Given the description of an element on the screen output the (x, y) to click on. 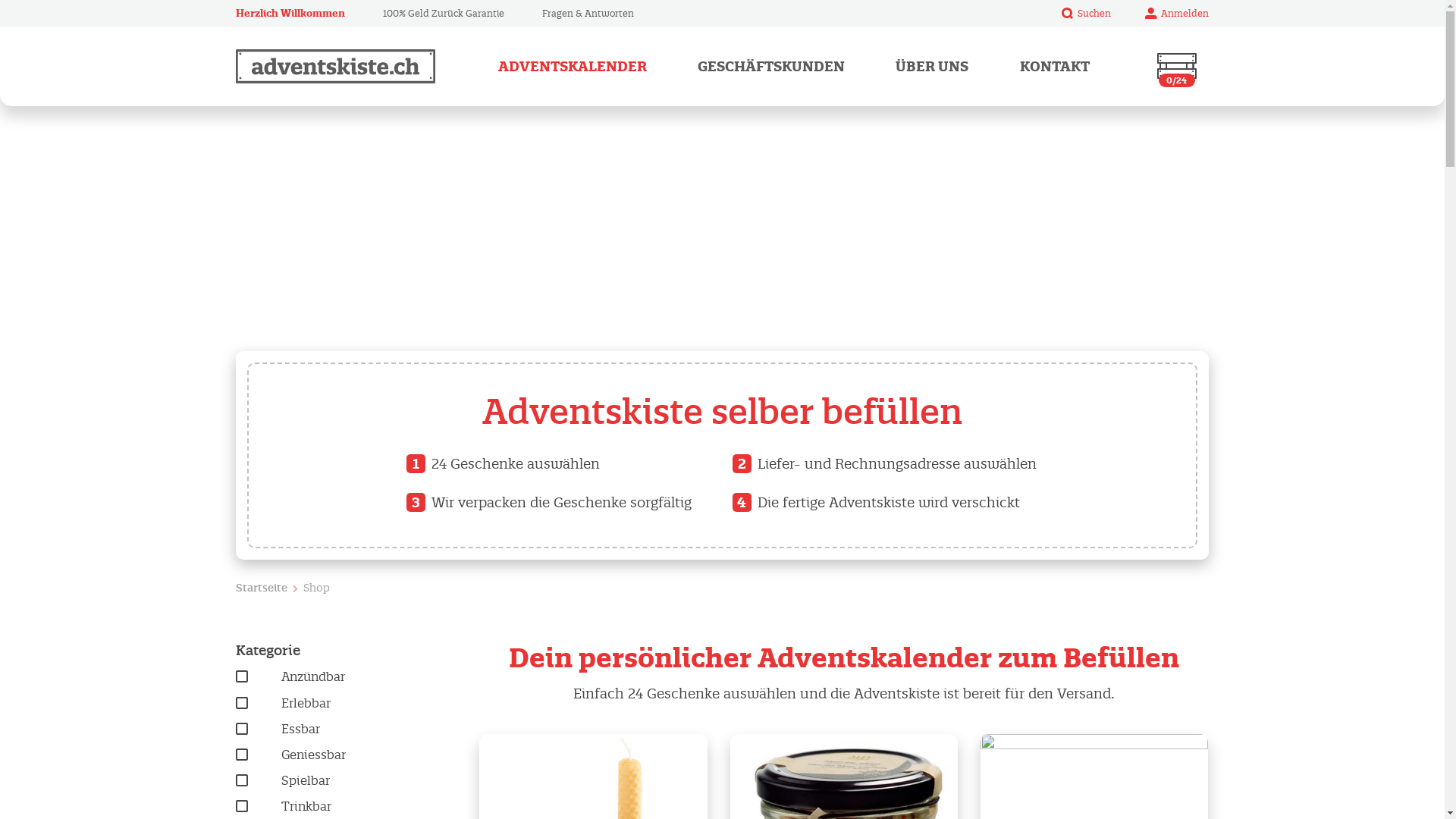
Essbar Element type: text (345, 728)
Anmelden Element type: text (1176, 12)
Suchen Element type: text (1085, 12)
KONTAKT Element type: text (1054, 66)
Fragen & Antworten Element type: text (587, 12)
ADVENTSKALENDER Element type: text (572, 66)
Trinkbar Element type: text (345, 806)
Startseite Element type: text (261, 587)
Spielbar Element type: text (345, 780)
Geniessbar Element type: text (345, 754)
Erlebbar Element type: text (345, 703)
